Given the description of an element on the screen output the (x, y) to click on. 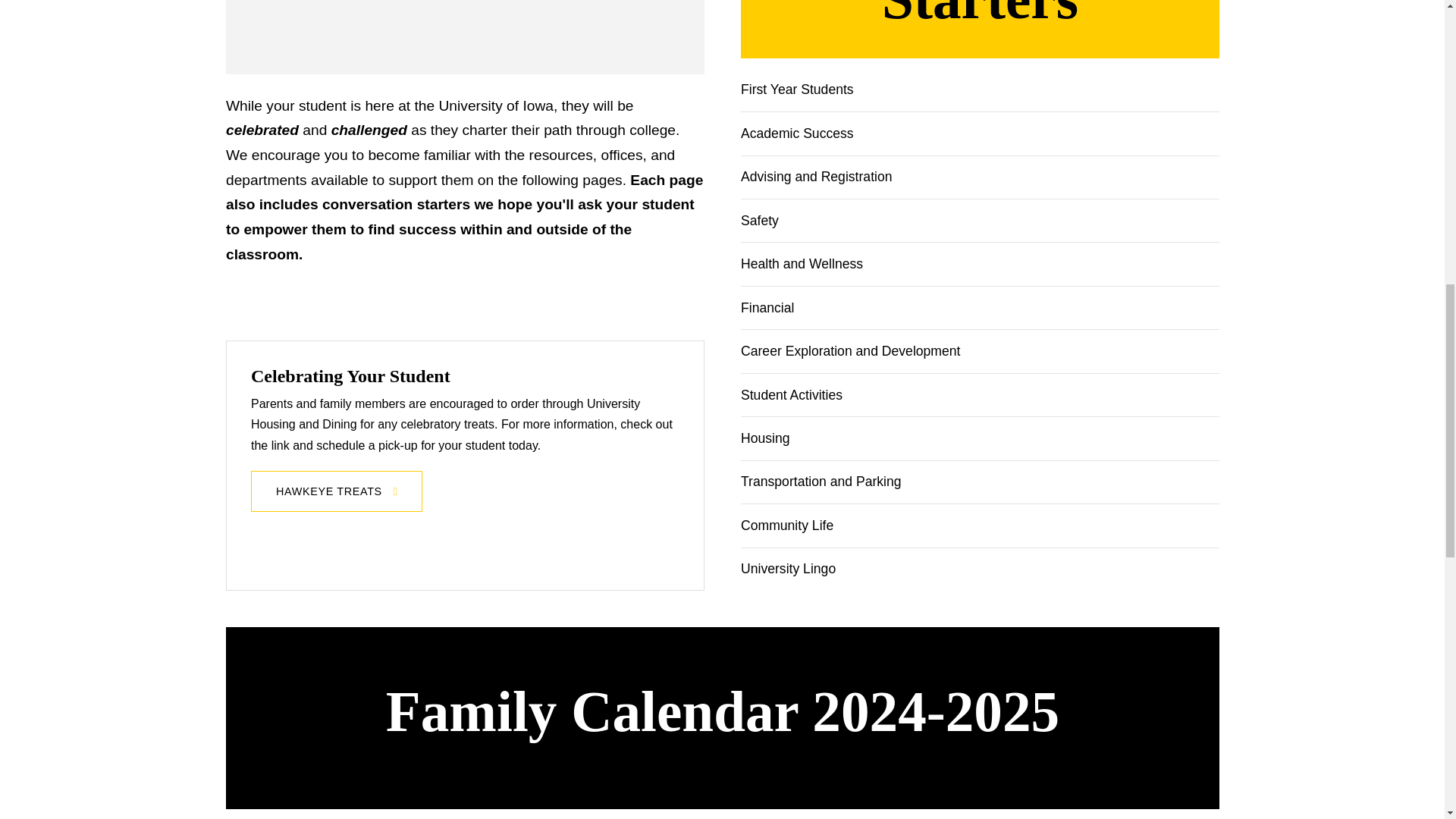
Housing (770, 437)
Financial (772, 307)
Celebrating Your Student (349, 375)
Safety (764, 220)
First Year Students (801, 93)
Student Activities (796, 394)
Advising and Registration (821, 176)
University Lingo (793, 568)
Community Life (792, 525)
Academic Success (801, 133)
